Given the description of an element on the screen output the (x, y) to click on. 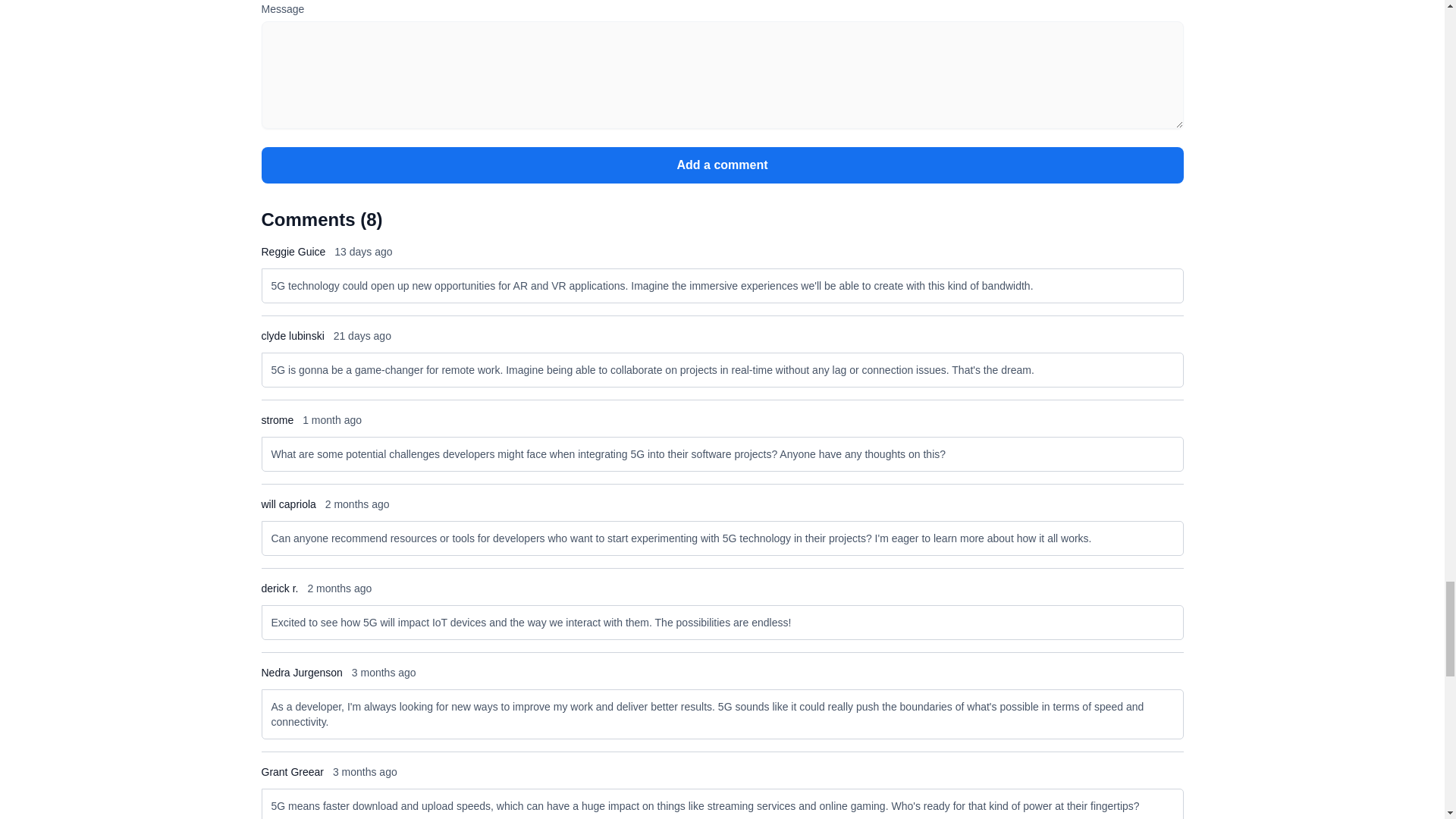
Add a comment (721, 165)
